Given the description of an element on the screen output the (x, y) to click on. 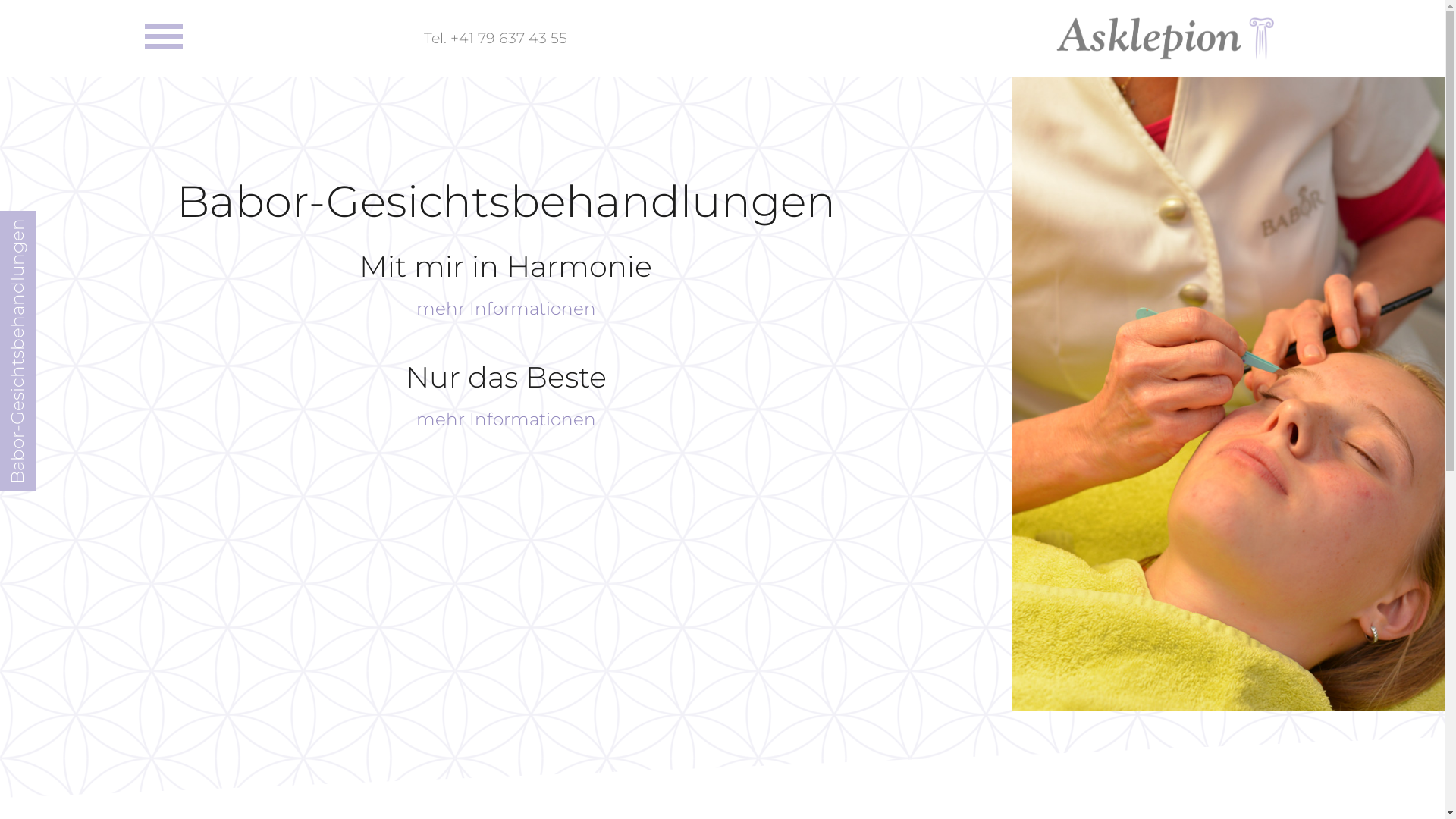
mehr Informationen Element type: text (506, 418)
mehr Informationen Element type: text (506, 308)
